Given the description of an element on the screen output the (x, y) to click on. 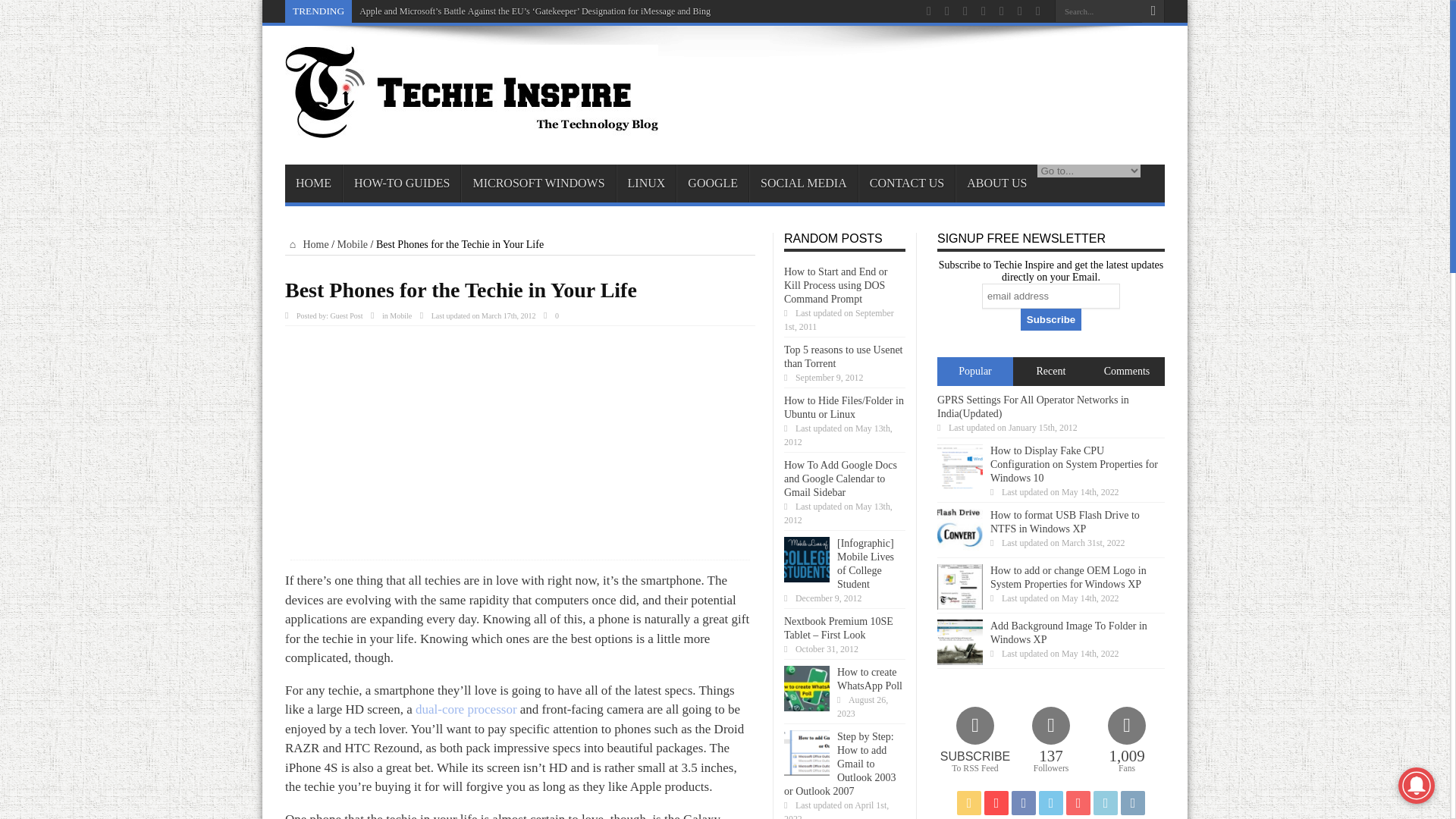
Advertisement (519, 448)
Search (1152, 11)
HOW-TO GUIDES (401, 183)
Mobile (352, 244)
ABOUT US (995, 183)
Search... (1097, 11)
dual-core processor (465, 708)
Guest Post (346, 316)
LINUX (646, 183)
SOCIAL MEDIA (803, 183)
CONTACT US (907, 183)
MICROSOFT WINDOWS (537, 183)
Subscribe (1050, 319)
GOOGLE (712, 183)
Home (307, 244)
